Given the description of an element on the screen output the (x, y) to click on. 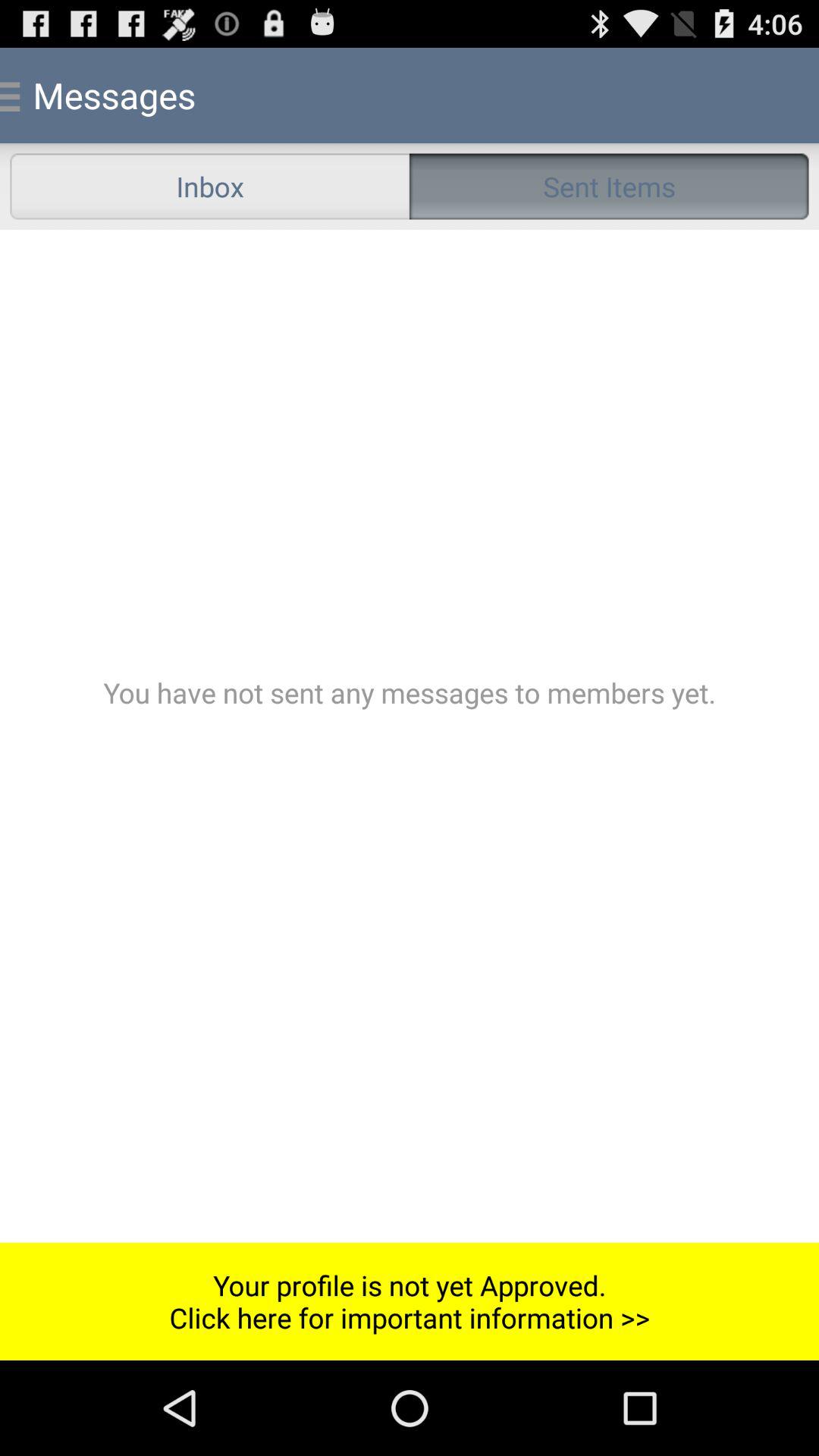
tap item at the top right corner (608, 186)
